Given the description of an element on the screen output the (x, y) to click on. 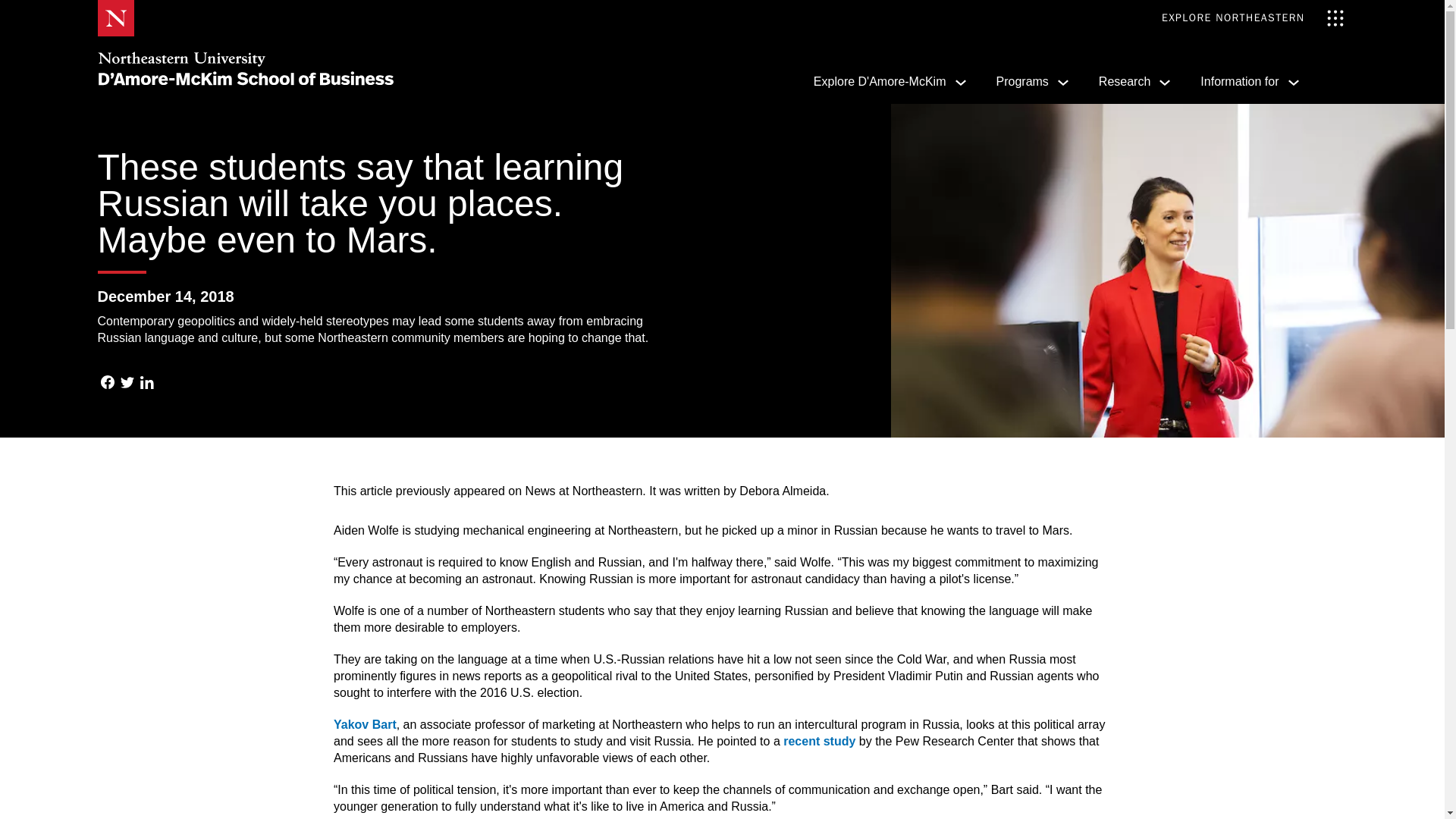
Twitter (126, 383)
EXPLORE NORTHEASTERN (1253, 18)
Facebook (106, 383)
LinkedIn (145, 383)
